Given the description of an element on the screen output the (x, y) to click on. 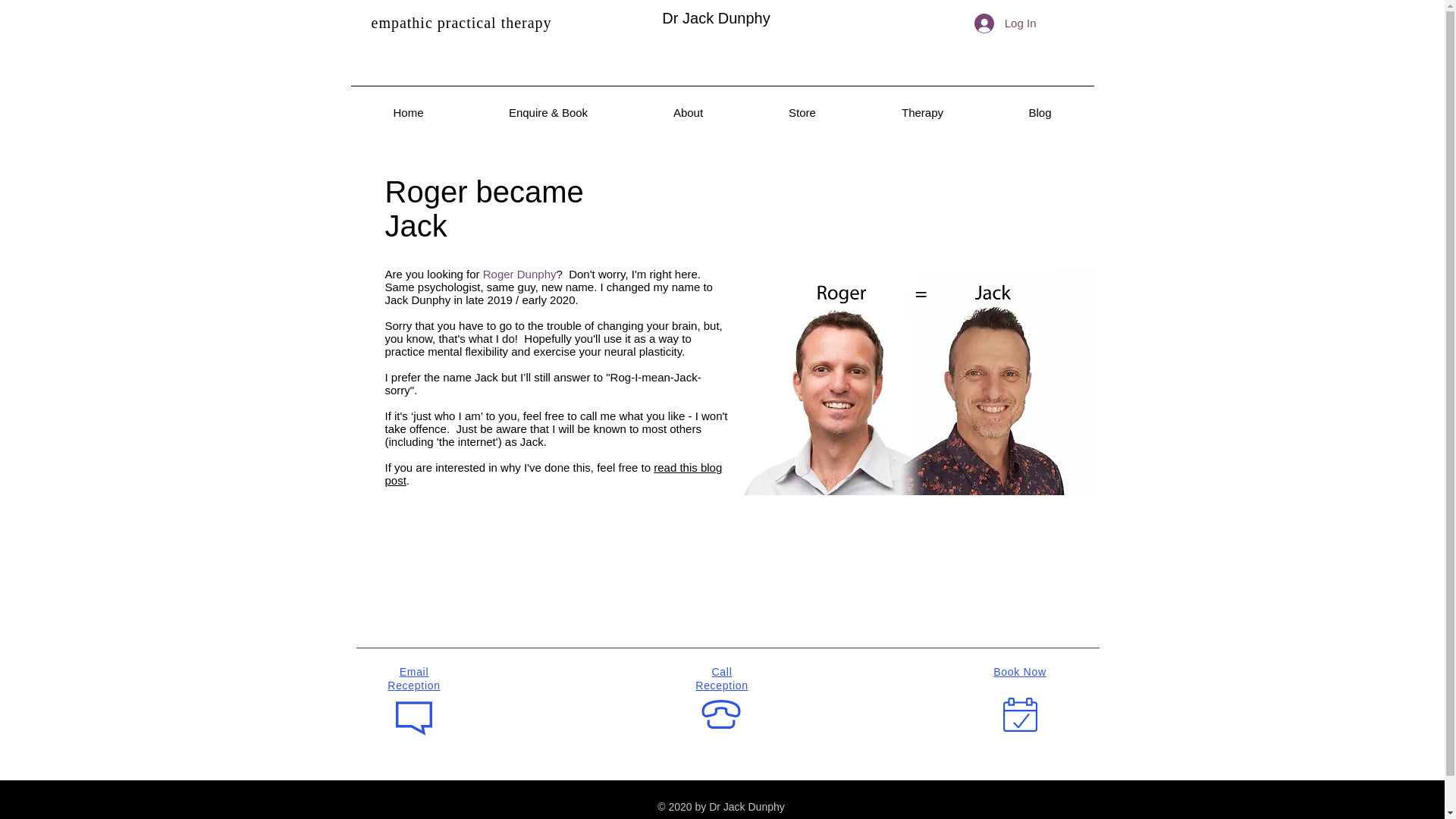
Blog (1039, 112)
Store (802, 112)
Call Reception (721, 678)
Roger Dunphy (519, 273)
empathic practical therapy (461, 22)
Dr Jack Dunphy (716, 17)
Home (407, 112)
read this blog post (553, 473)
Email Reception (413, 678)
Roger equals Jack.jpg (913, 381)
Book Now (1018, 671)
Log In (1004, 23)
